Given the description of an element on the screen output the (x, y) to click on. 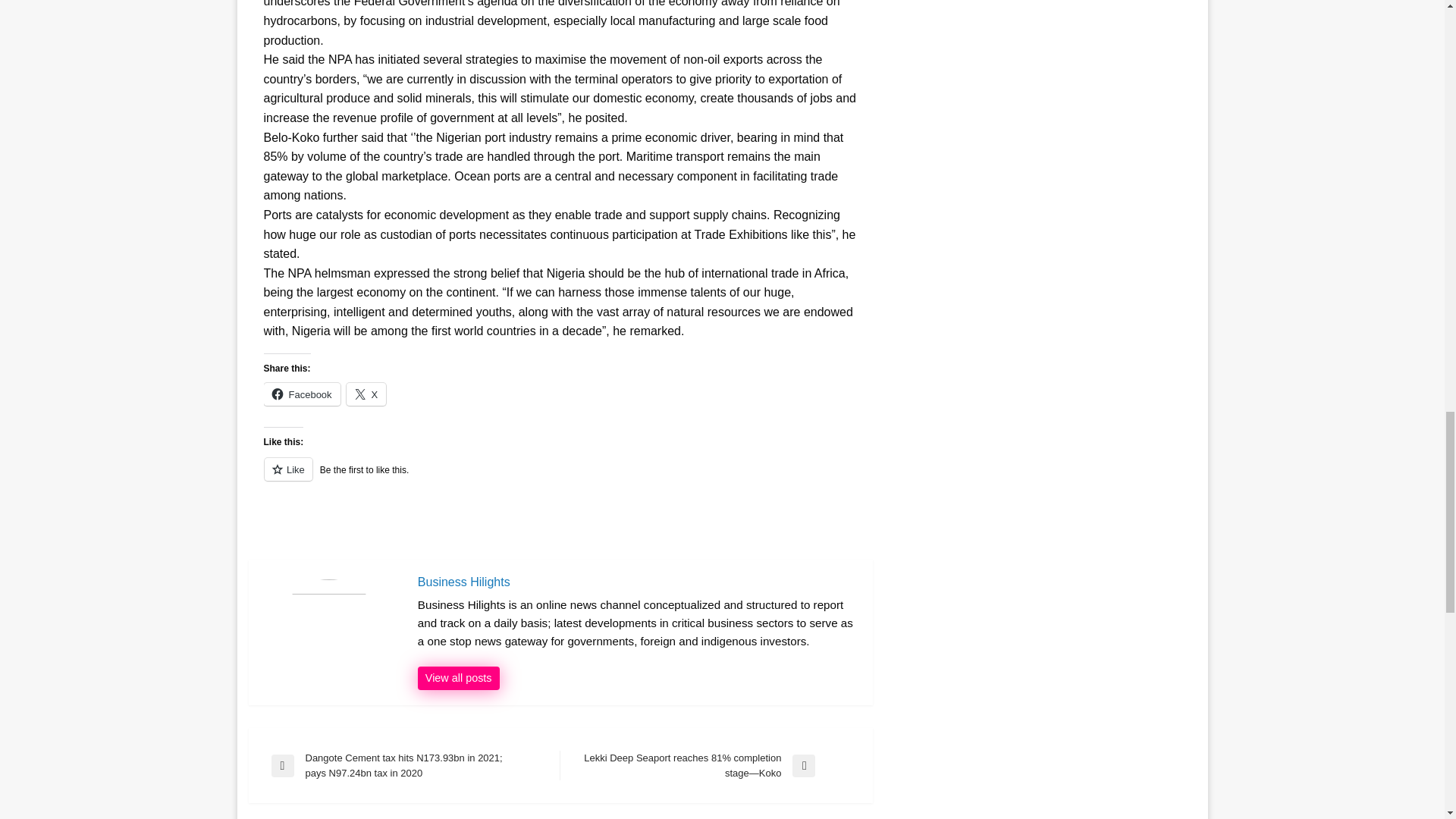
Business Hilights (458, 678)
Click to share on X (366, 394)
Business Hilights (637, 581)
Click to share on Facebook (301, 394)
Business Hilights (637, 581)
X (366, 394)
Like or Reblog (560, 477)
Facebook (301, 394)
View all posts (458, 678)
